Given the description of an element on the screen output the (x, y) to click on. 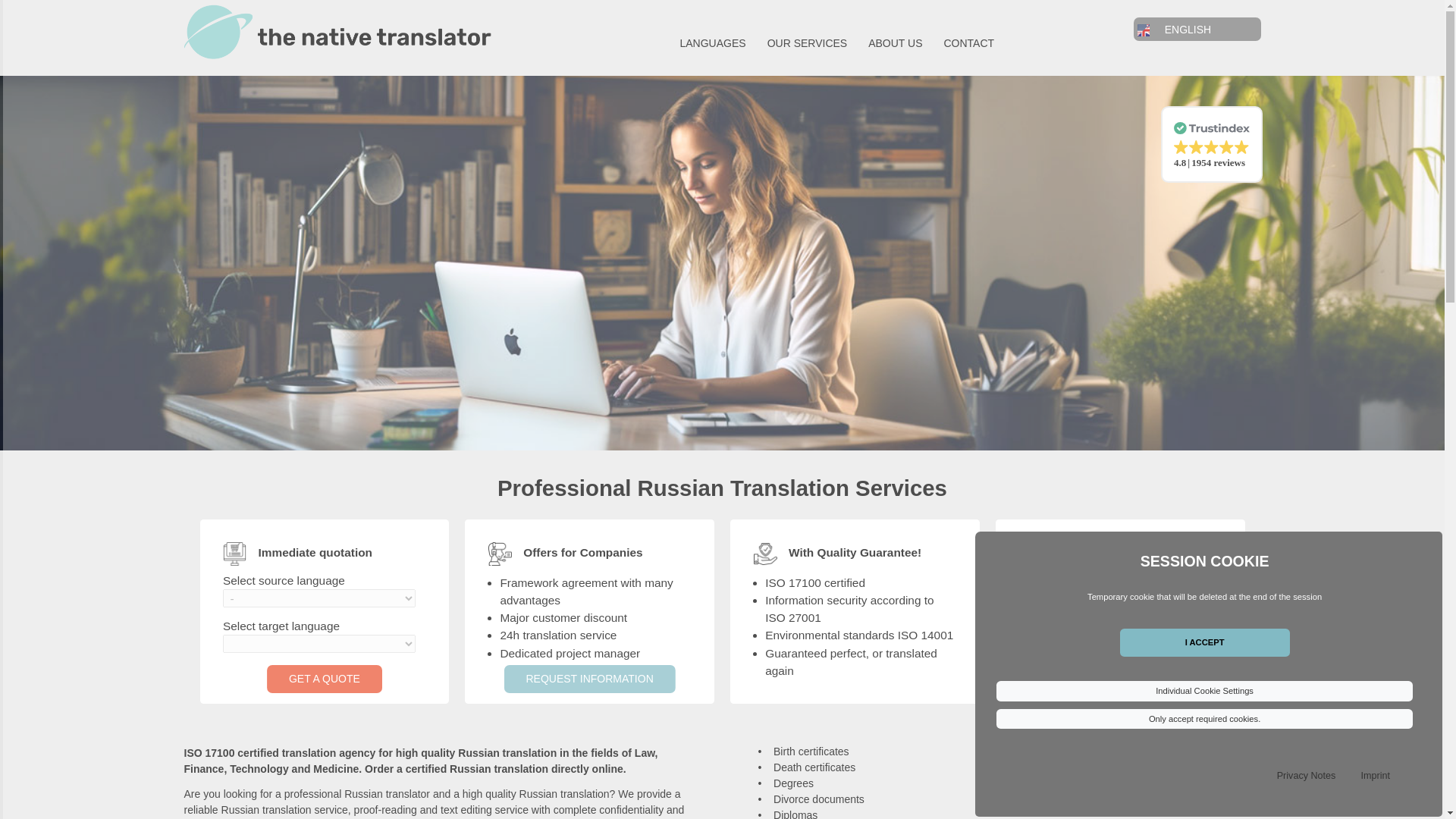
LANGUAGES (712, 42)
Only accept required cookies. (1204, 718)
Online translation service (712, 42)
The Native Translator (337, 37)
ENGLISH (1187, 29)
ABOUT US (894, 42)
OUR SERVICES (807, 42)
CONTACT (968, 42)
Imprint (1374, 775)
Individual Cookie Settings (1204, 690)
Privacy Notes (1306, 775)
Our Services (807, 42)
I ACCEPT (1204, 642)
The Native Translator (337, 32)
